Given the description of an element on the screen output the (x, y) to click on. 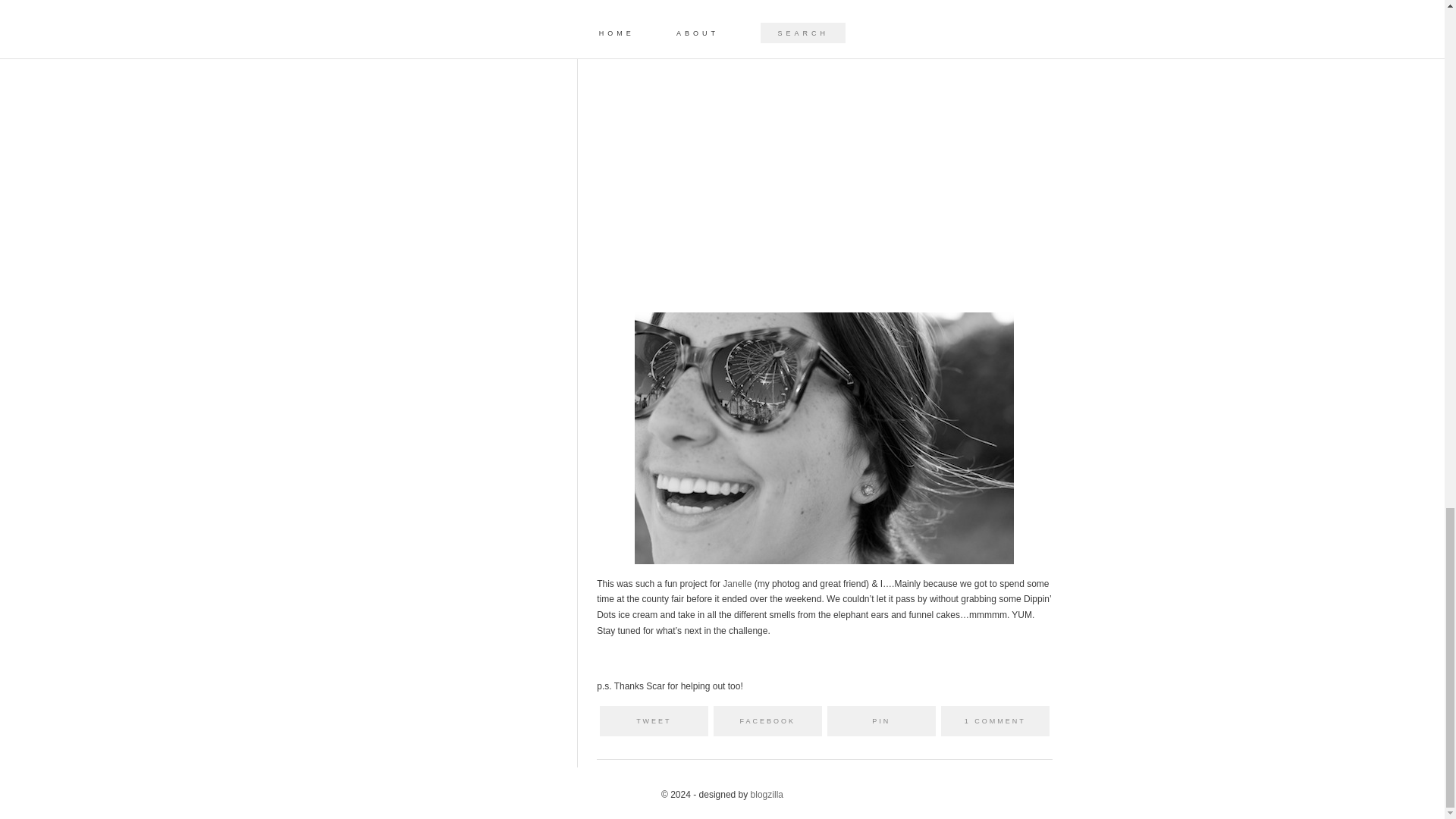
TWEET (654, 720)
PIN (881, 720)
1 COMMENT (995, 720)
pastiche (767, 794)
Untitled-4 (823, 166)
FACEBOOK (767, 720)
Janelle (736, 583)
blogzilla (767, 794)
